Given the description of an element on the screen output the (x, y) to click on. 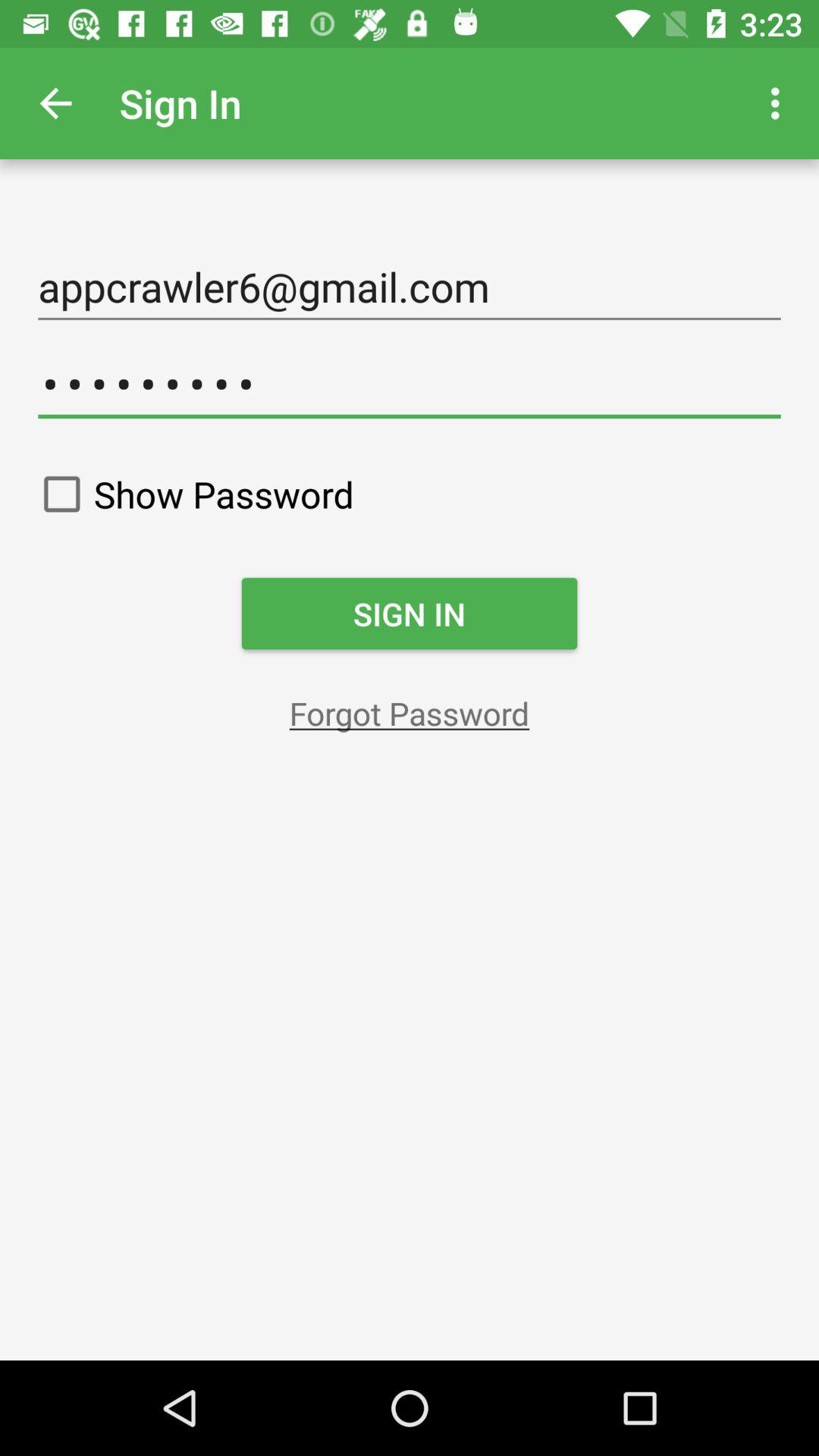
choose the item below sign in (409, 712)
